Given the description of an element on the screen output the (x, y) to click on. 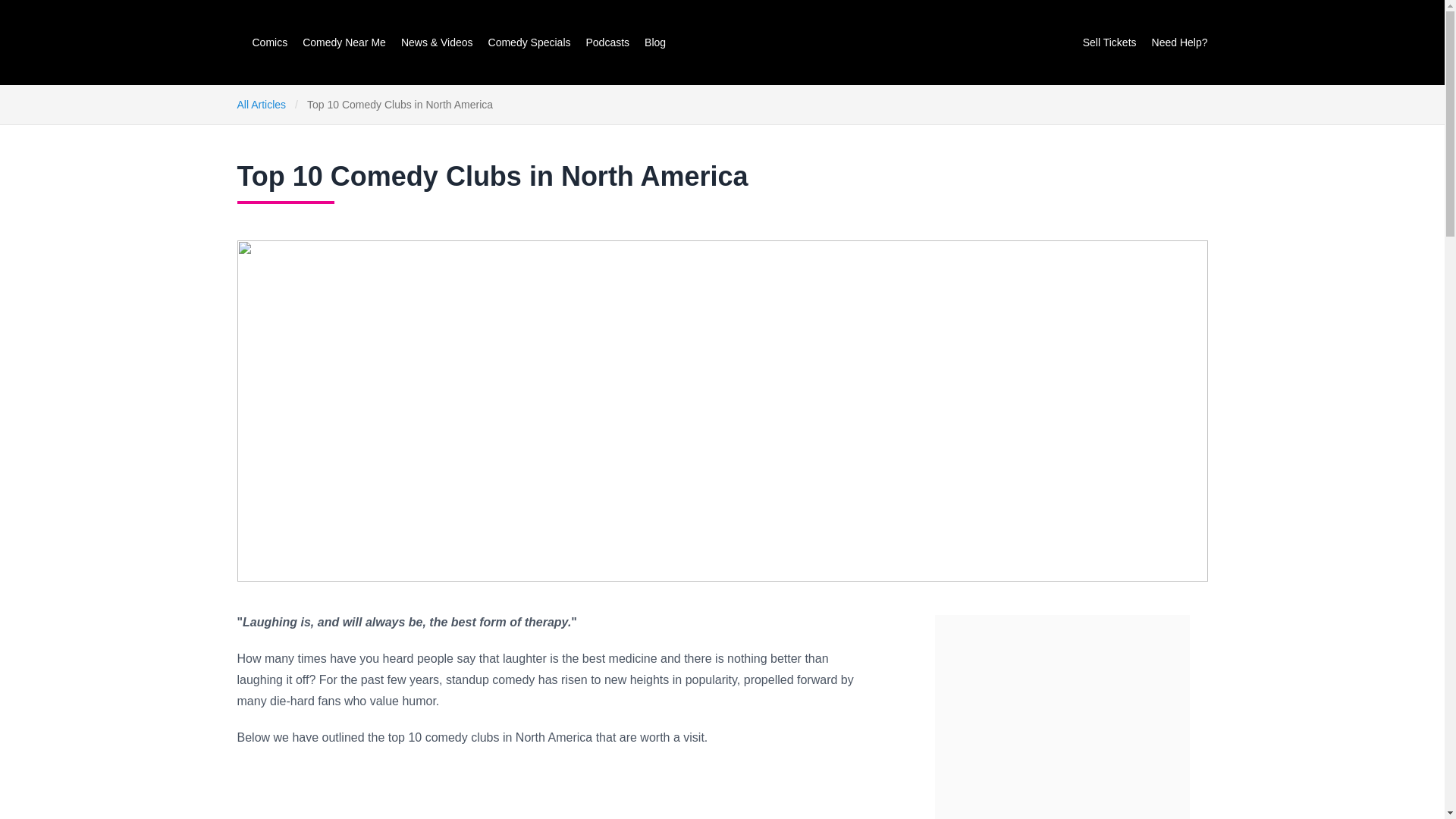
Blog (655, 42)
Comics (268, 42)
Sell Tickets (1110, 42)
Comedy Near Me (343, 42)
All Articles (260, 104)
Need Help? (1179, 42)
Podcasts (606, 42)
Comedy Specials (528, 42)
Comedy Near Me (343, 42)
Podcasts (606, 42)
All Articles (260, 104)
Comics (268, 42)
Comedy Specials (528, 42)
Blog (655, 42)
